Given the description of an element on the screen output the (x, y) to click on. 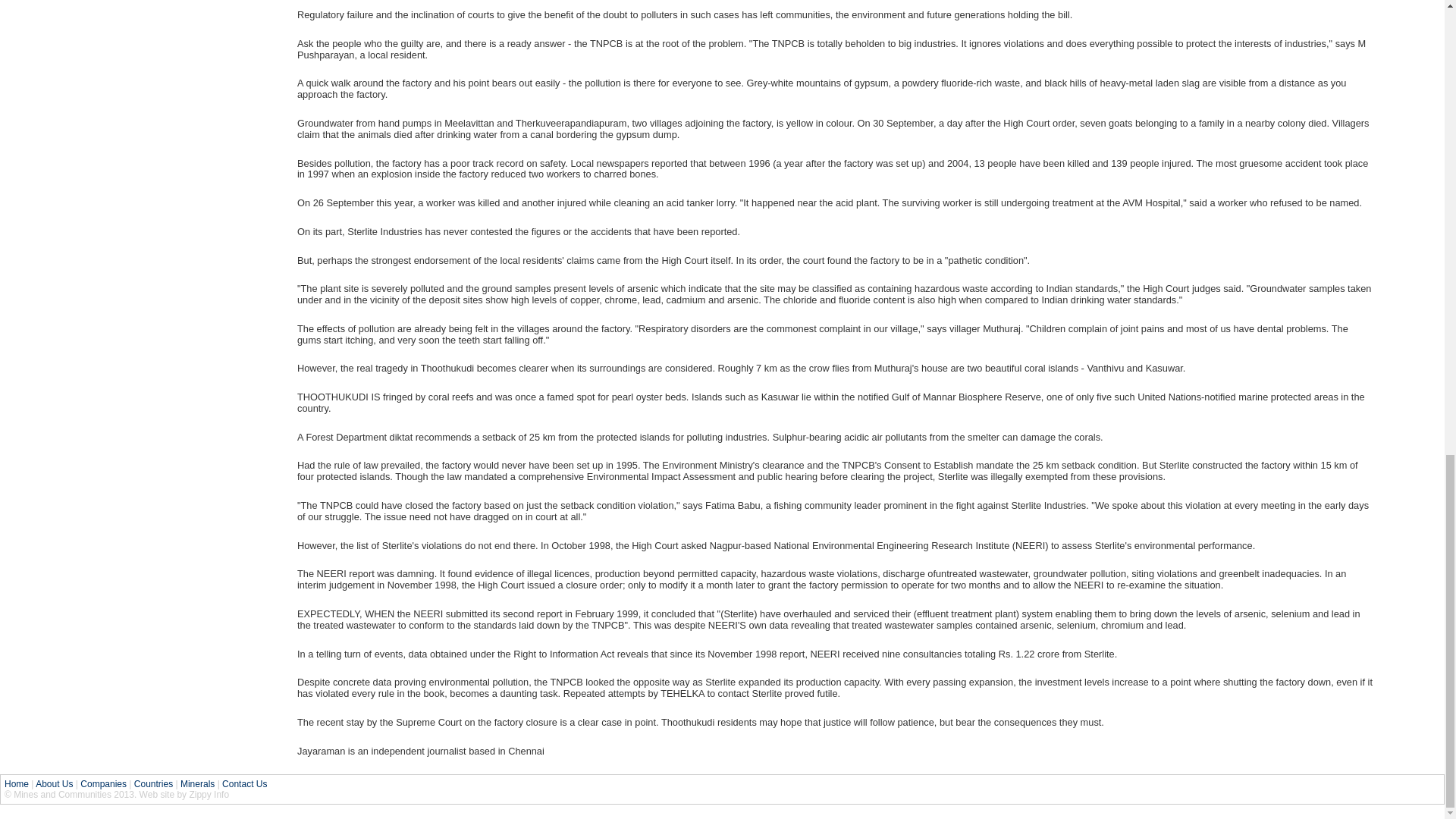
Countries (153, 783)
Companies (103, 783)
Minerals (197, 783)
Contact Us (244, 783)
Home (16, 783)
About Us (53, 783)
